Given the description of an element on the screen output the (x, y) to click on. 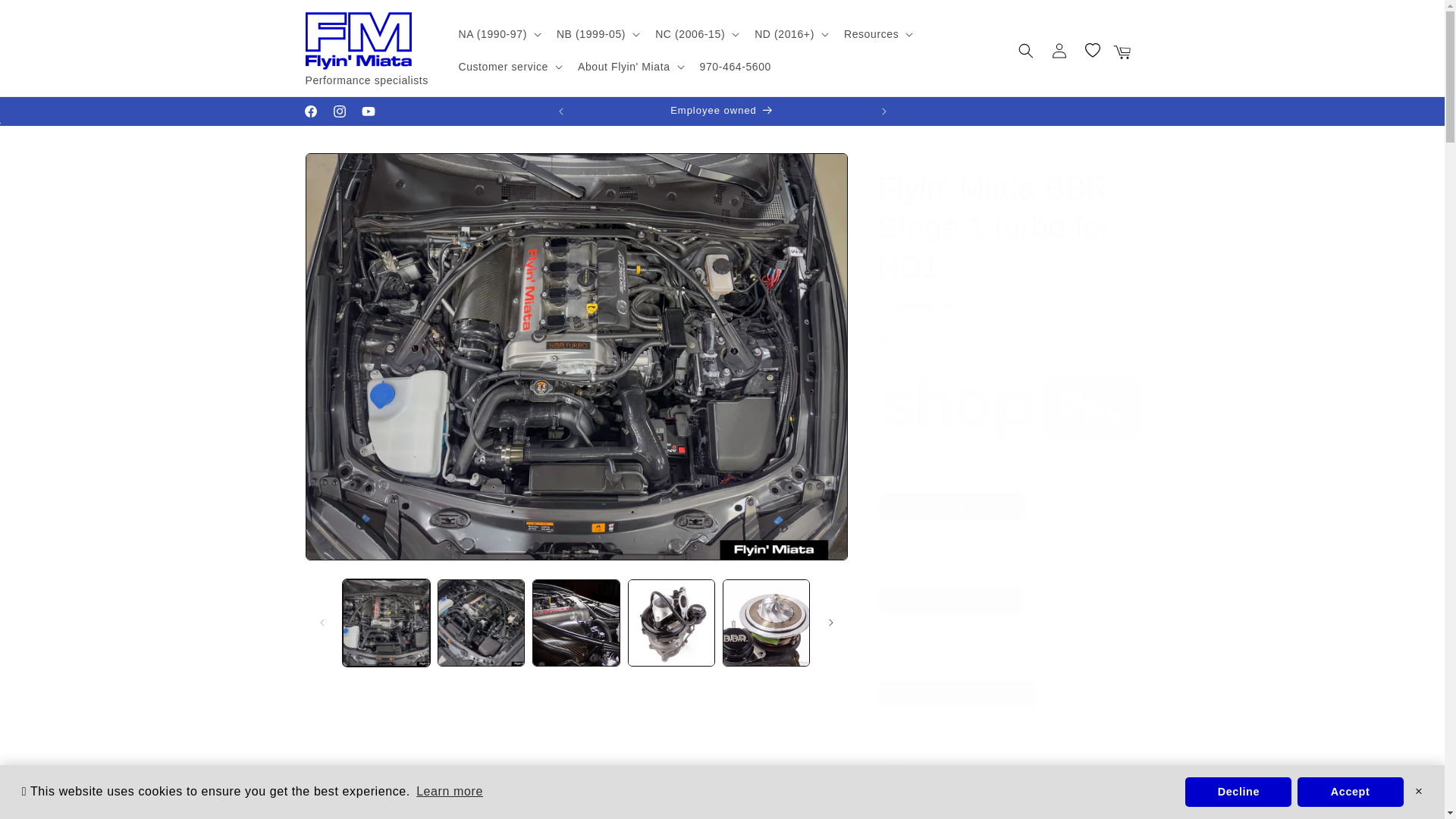
Learn more (448, 791)
Accept (1350, 791)
Decline (1238, 791)
Kustomer Widget Iframe (1398, 772)
Skip to content (45, 17)
1 (931, 791)
